Given the description of an element on the screen output the (x, y) to click on. 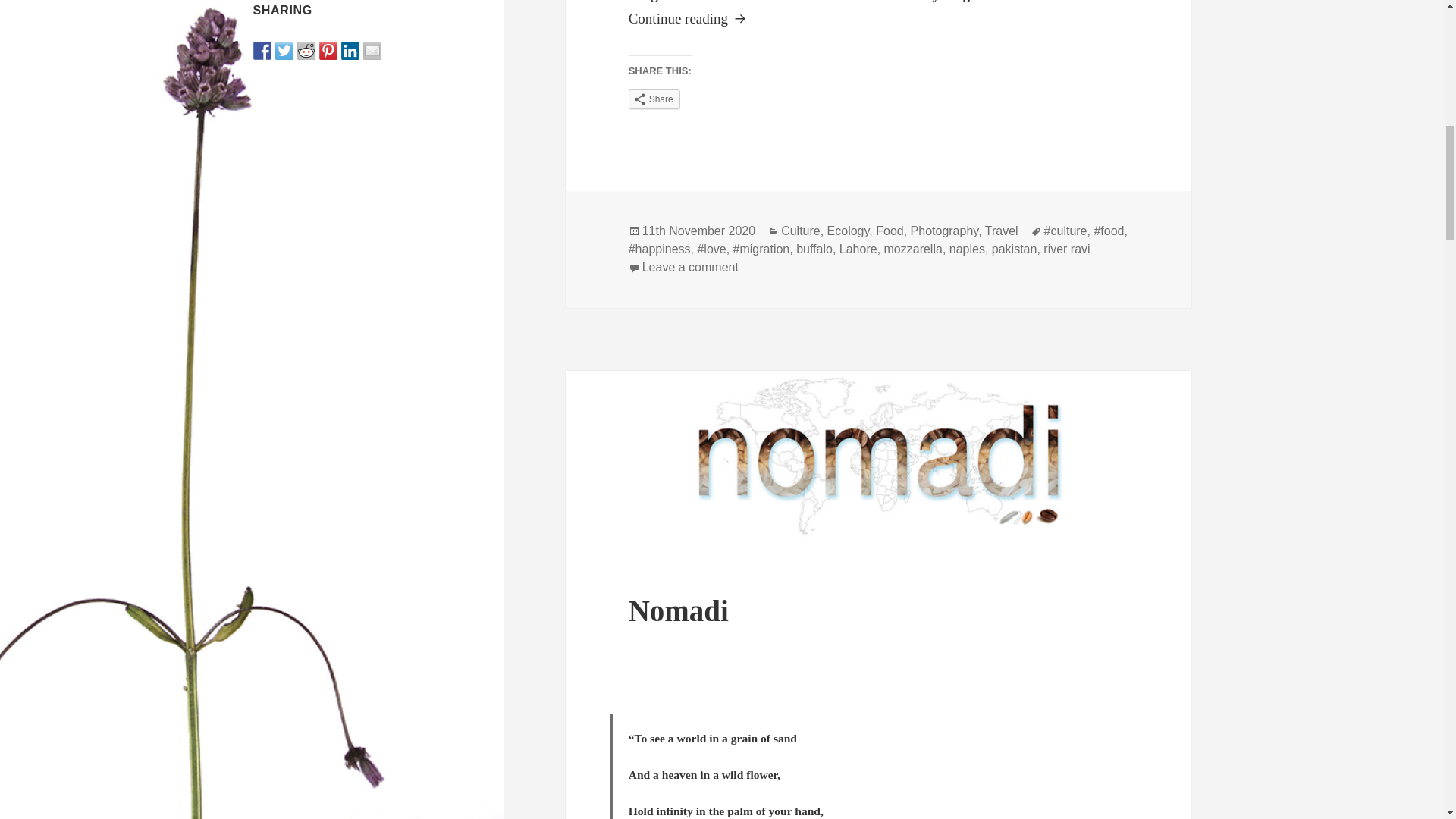
Pin it with Pinterest (327, 50)
Share on Facebook (261, 50)
Share by email (371, 50)
Share on Twitter (284, 50)
Share on Linkedin (349, 50)
Share on Reddit (306, 50)
